Given the description of an element on the screen output the (x, y) to click on. 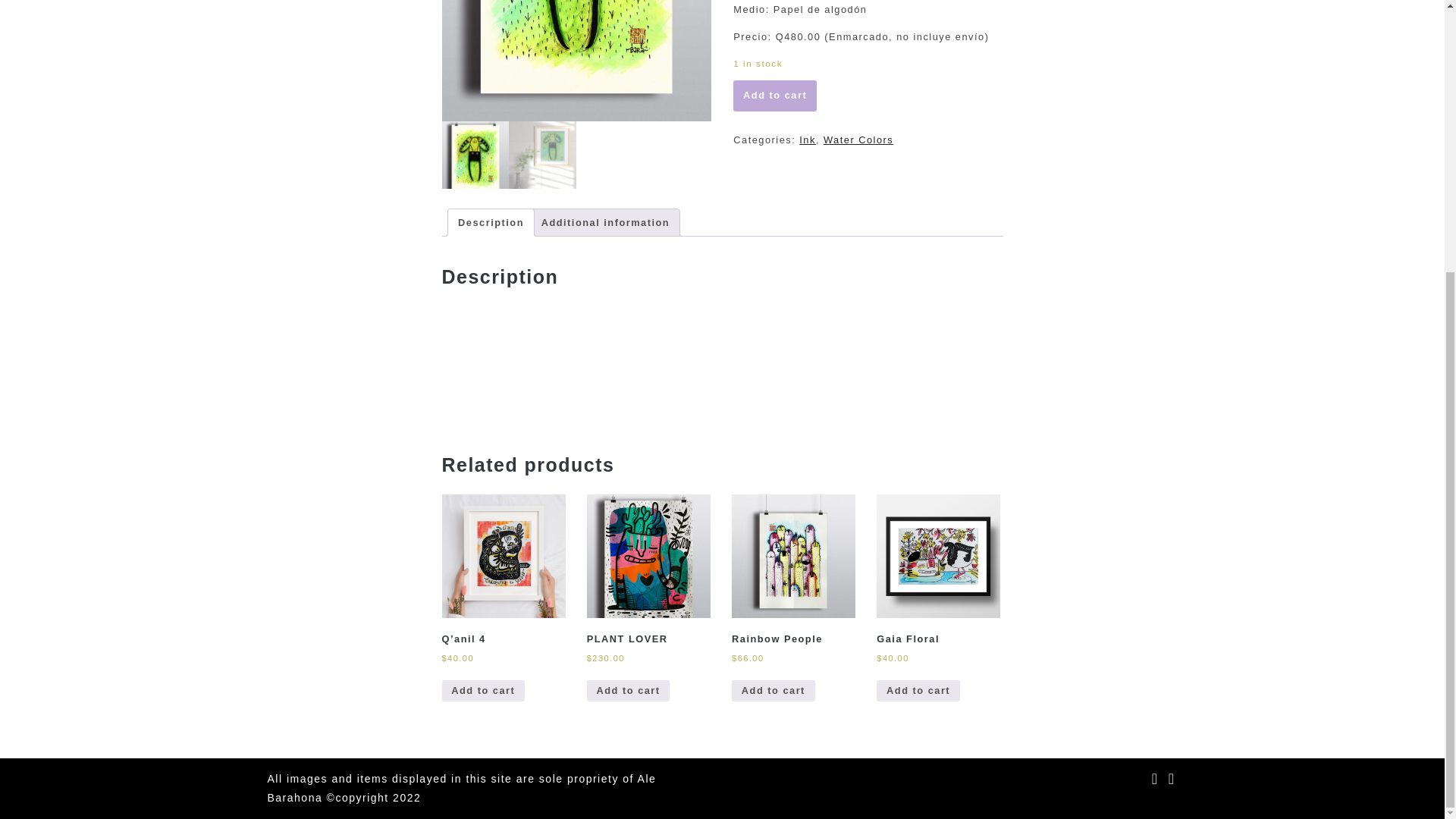
Add to cart (774, 96)
Add to cart (917, 690)
Ink (807, 139)
Add to cart (482, 690)
Additional information (605, 222)
Water Colors (858, 139)
Add to cart (627, 690)
Description (491, 222)
Add to cart (773, 690)
